Given the description of an element on the screen output the (x, y) to click on. 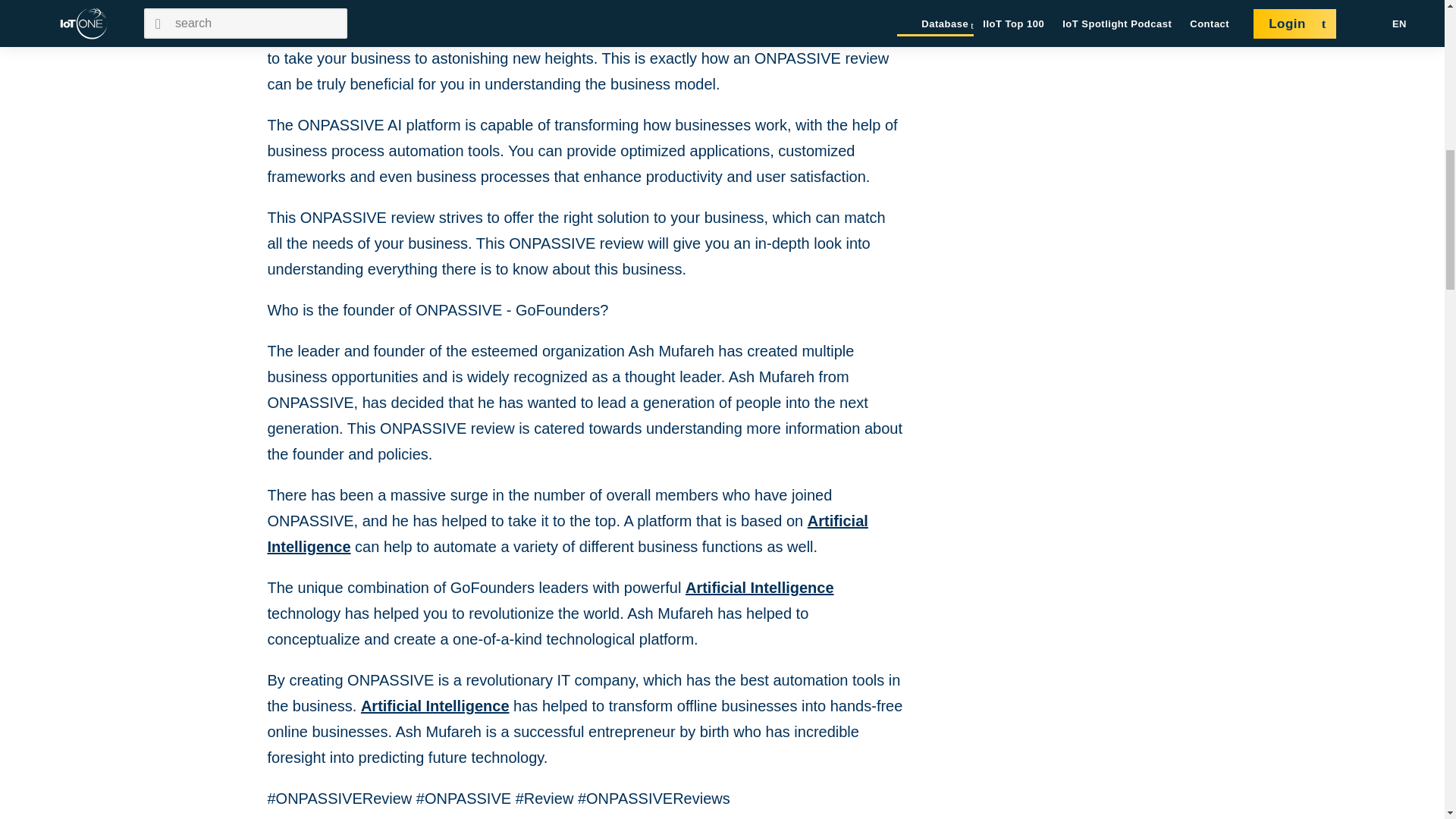
Artificial Intelligence (435, 705)
Artificial Intelligence (759, 587)
Artificial Intelligence (573, 7)
Artificial Intelligence (566, 533)
